Given the description of an element on the screen output the (x, y) to click on. 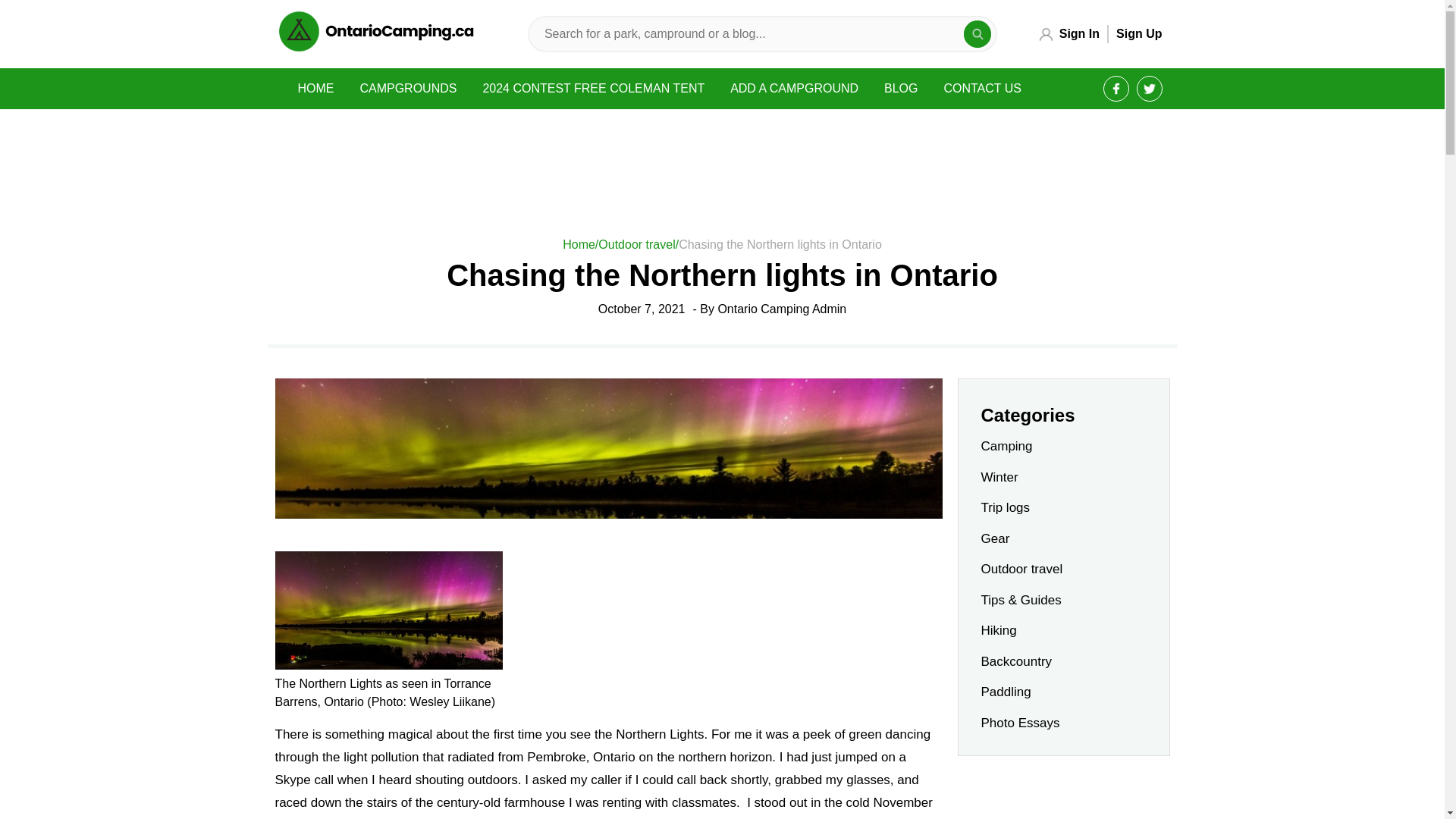
twitter (1149, 88)
CAMPGROUNDS (408, 87)
2024 CONTEST FREE COLEMAN TENT (592, 87)
Home (580, 244)
Gear (995, 537)
Wesley Liikane (449, 701)
facebook (1115, 88)
Camping (1006, 445)
CONTACT US (982, 87)
Advertisement (1062, 795)
Trip logs (1005, 507)
Sign In (1079, 34)
ADD A CAMPGROUND (794, 87)
Winter (999, 477)
BLOG (900, 87)
